Given the description of an element on the screen output the (x, y) to click on. 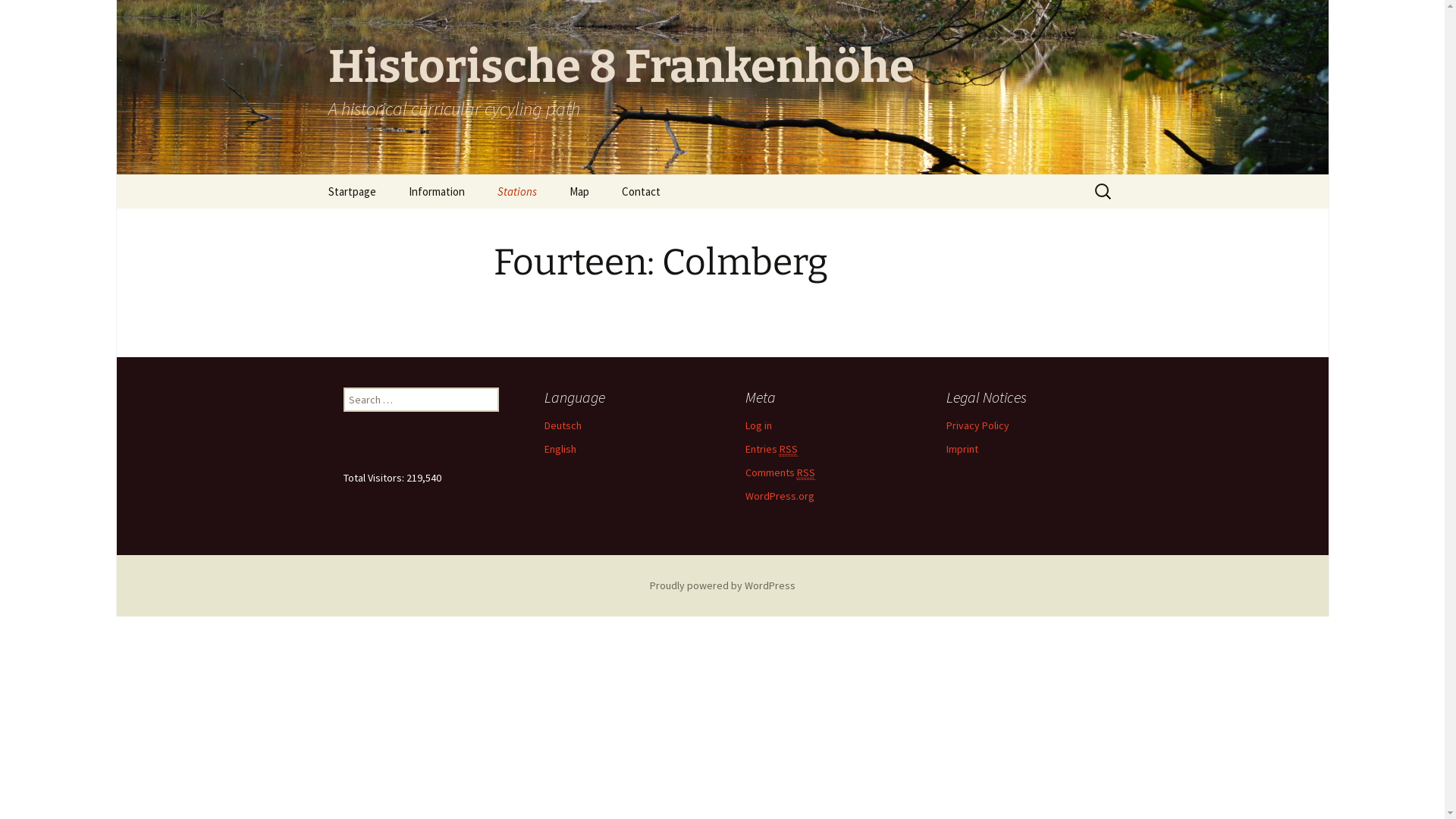
Privacy Policy Element type: text (977, 425)
Log in Element type: text (757, 425)
English Element type: text (560, 448)
Search Element type: text (18, 16)
Information Element type: text (435, 191)
Comments RSS Element type: text (779, 472)
Imprint Element type: text (962, 448)
WordPress.org Element type: text (778, 495)
Search Element type: text (34, 15)
Stations Element type: text (517, 191)
Educational materials Element type: text (468, 225)
Map Element type: text (578, 191)
Skip to content Element type: text (312, 174)
Startpage Element type: text (351, 191)
Proudly powered by WordPress Element type: text (721, 585)
Deutsch Element type: text (562, 425)
Entries RSS Element type: text (770, 449)
Contact Element type: text (640, 191)
